Given the description of an element on the screen output the (x, y) to click on. 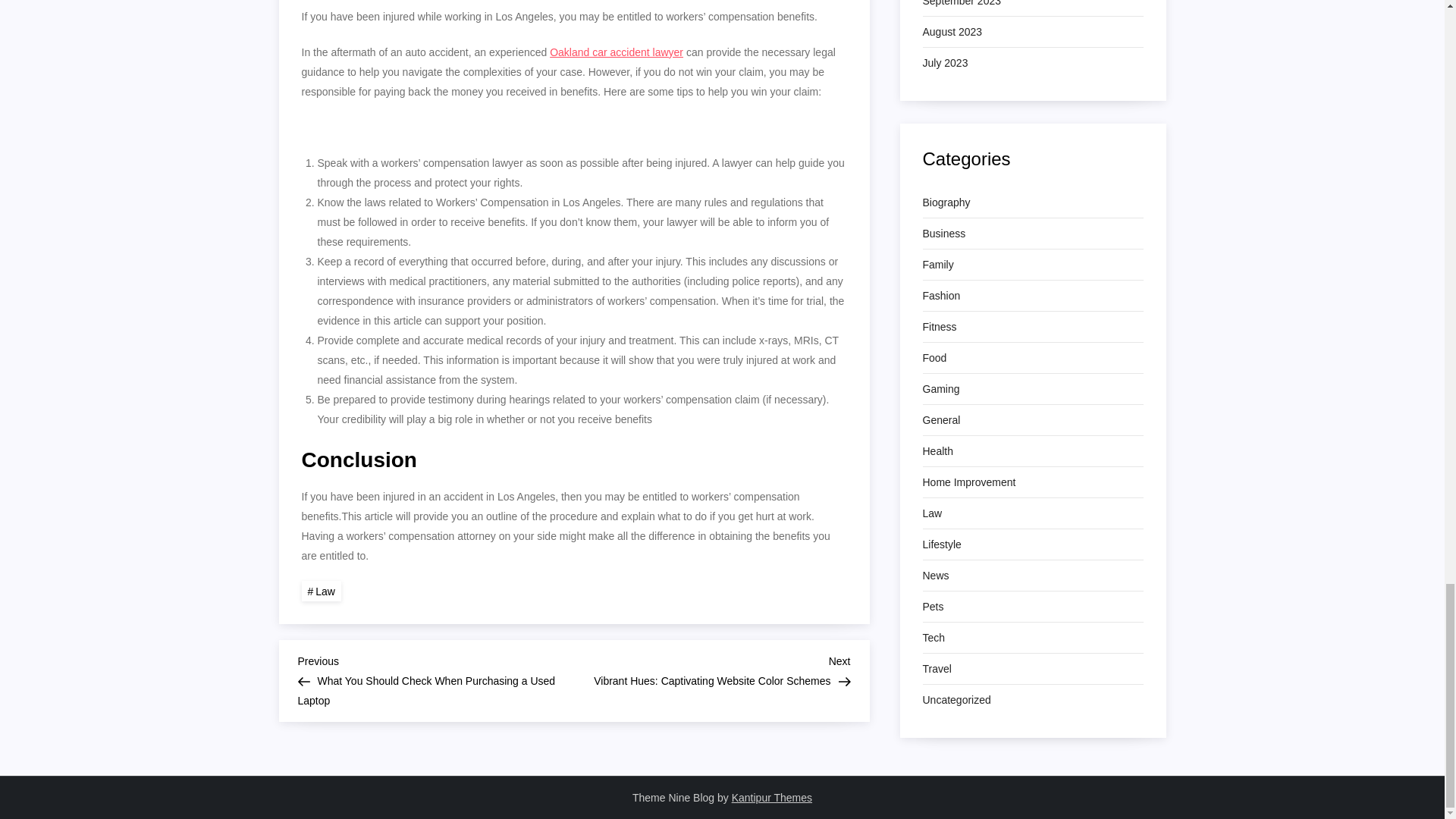
Oakland car accident lawyer (616, 51)
Law (320, 590)
